Given the description of an element on the screen output the (x, y) to click on. 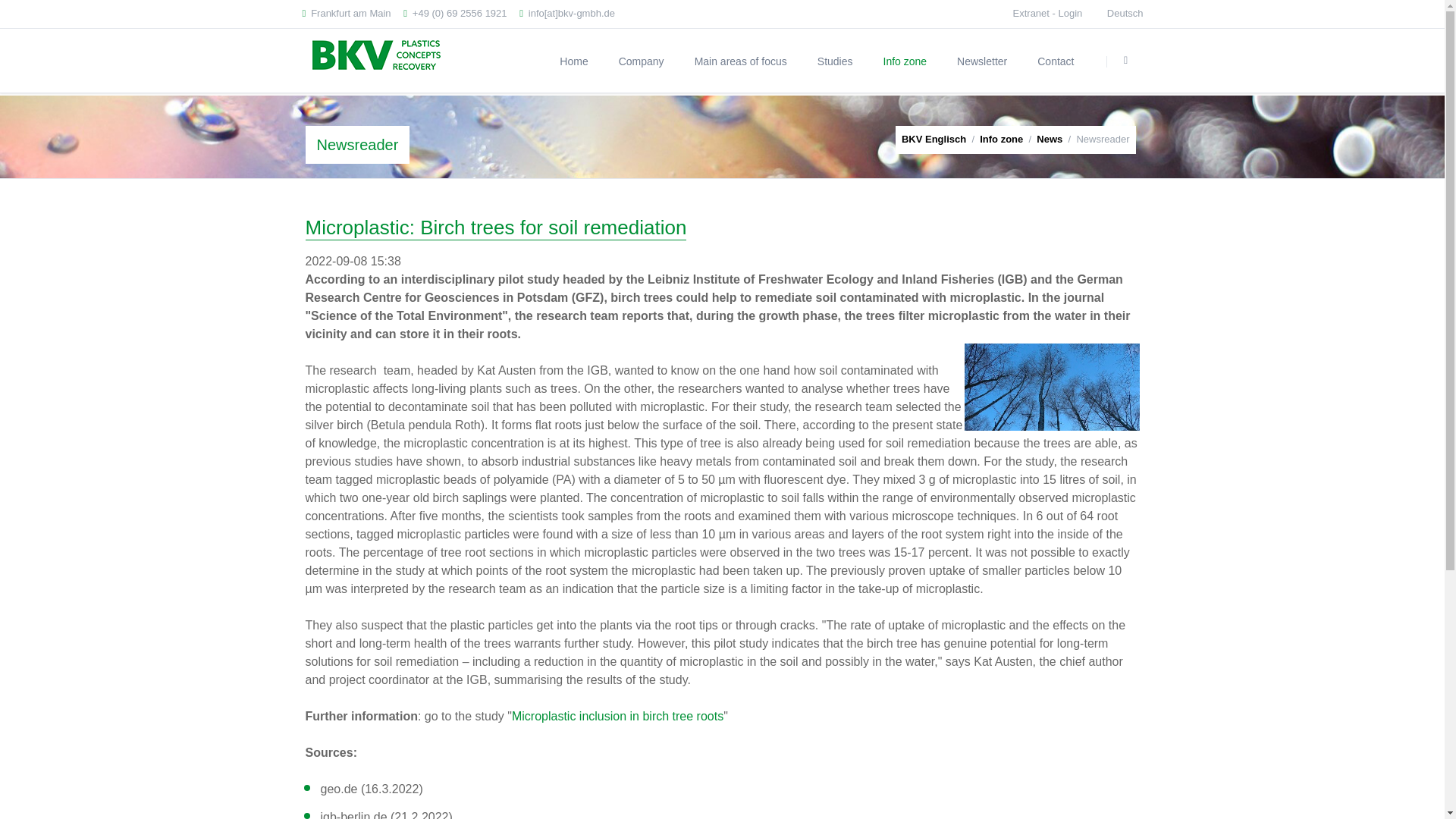
Extranet - Login (1048, 12)
Deutsch (1124, 13)
Frankfurt am Main (345, 13)
